Given the description of an element on the screen output the (x, y) to click on. 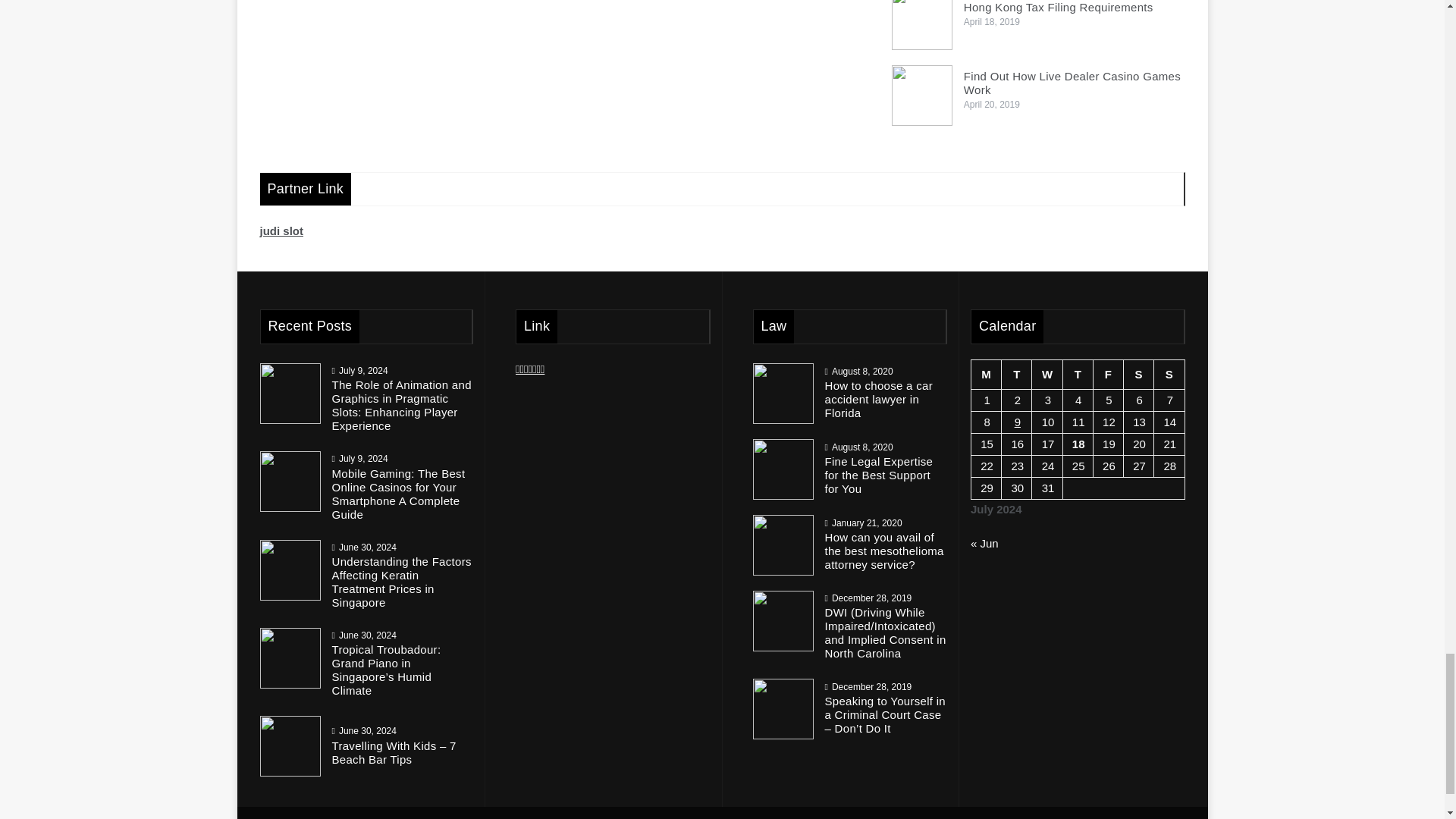
Monday (986, 374)
Thursday (1077, 374)
Wednesday (1047, 374)
Friday (1107, 374)
Saturday (1139, 374)
Sunday (1169, 374)
Tuesday (1016, 374)
